Given the description of an element on the screen output the (x, y) to click on. 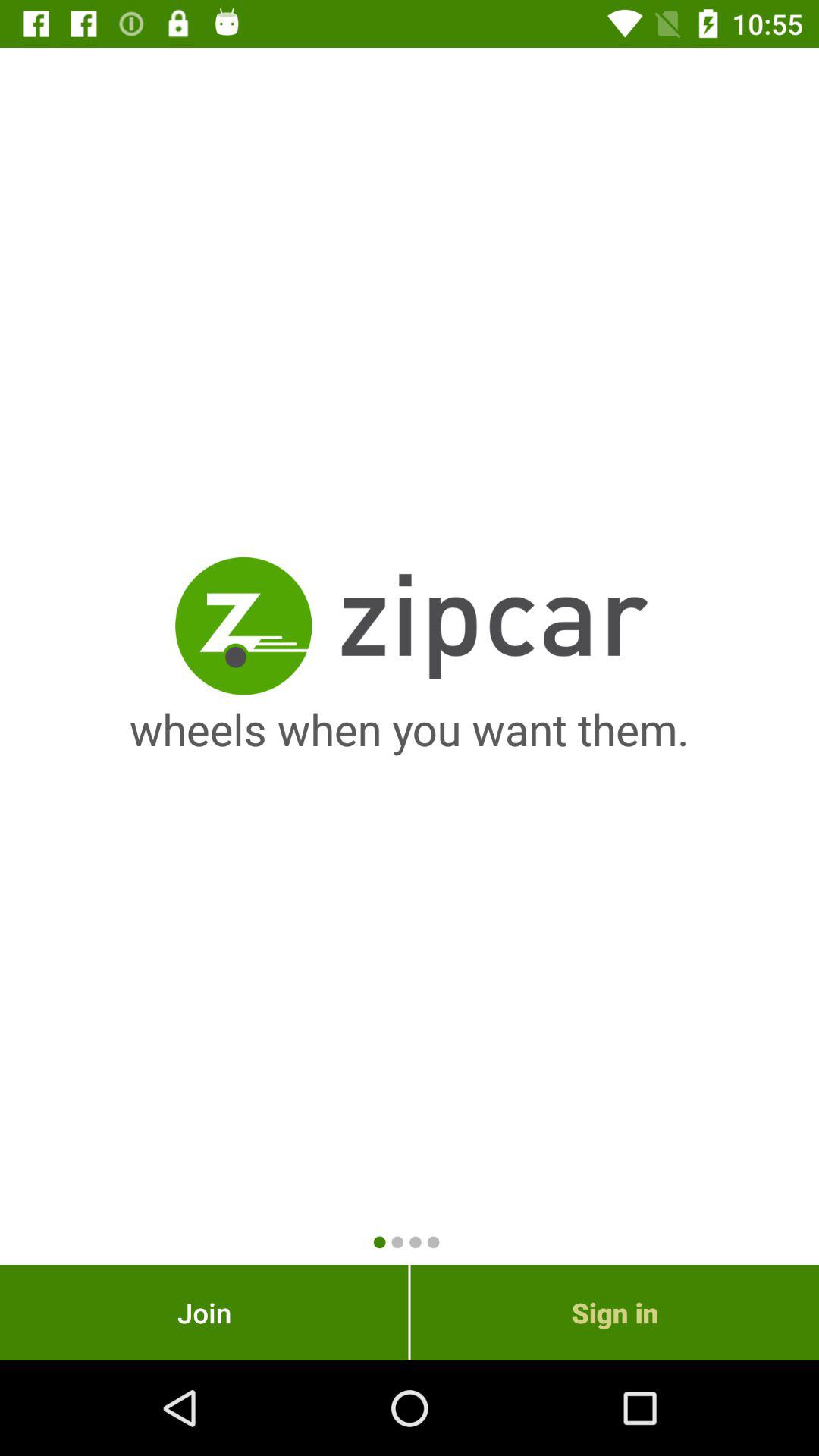
tap sign in (614, 1312)
